Given the description of an element on the screen output the (x, y) to click on. 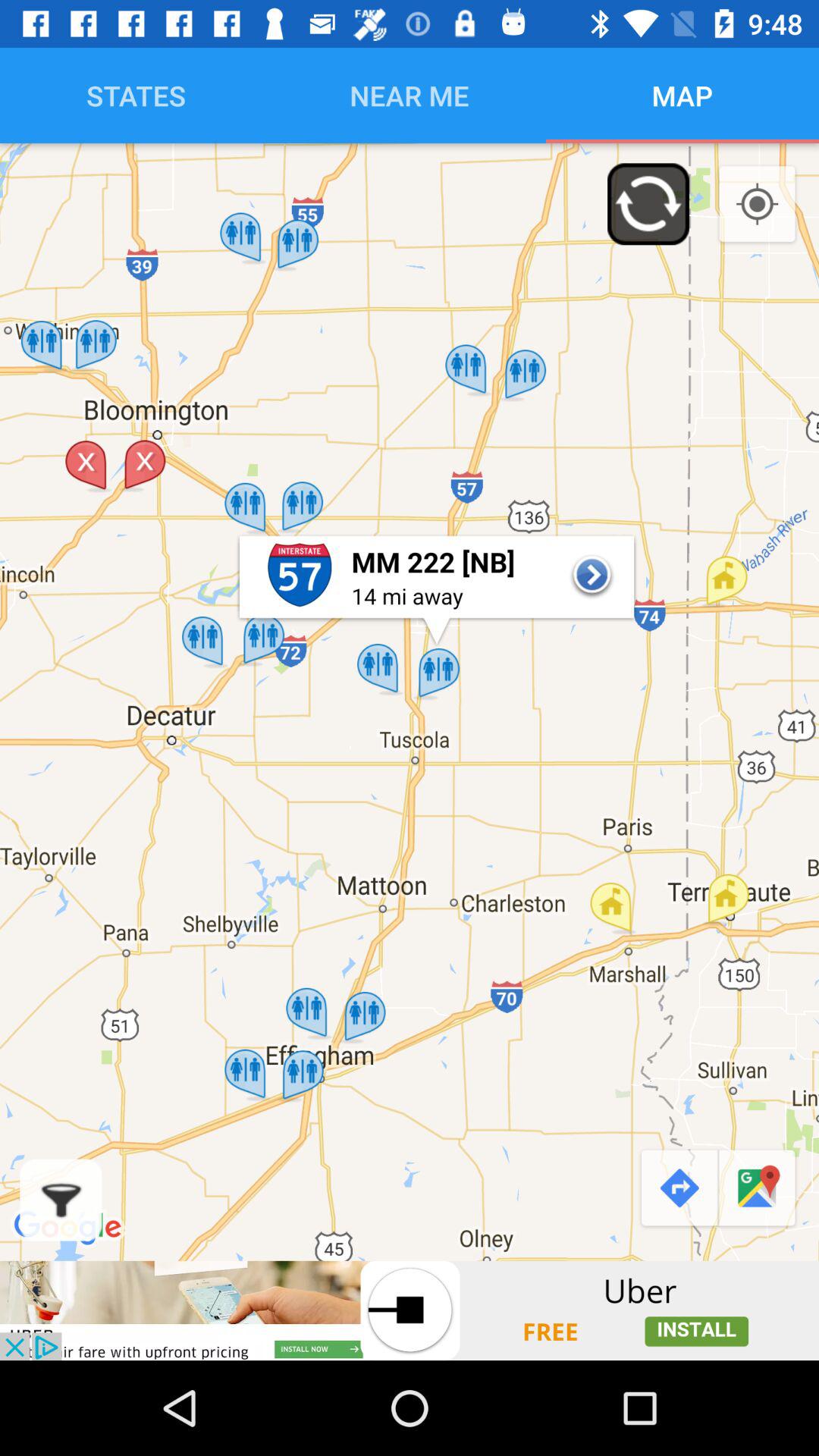
open filters menu (60, 1200)
